Given the description of an element on the screen output the (x, y) to click on. 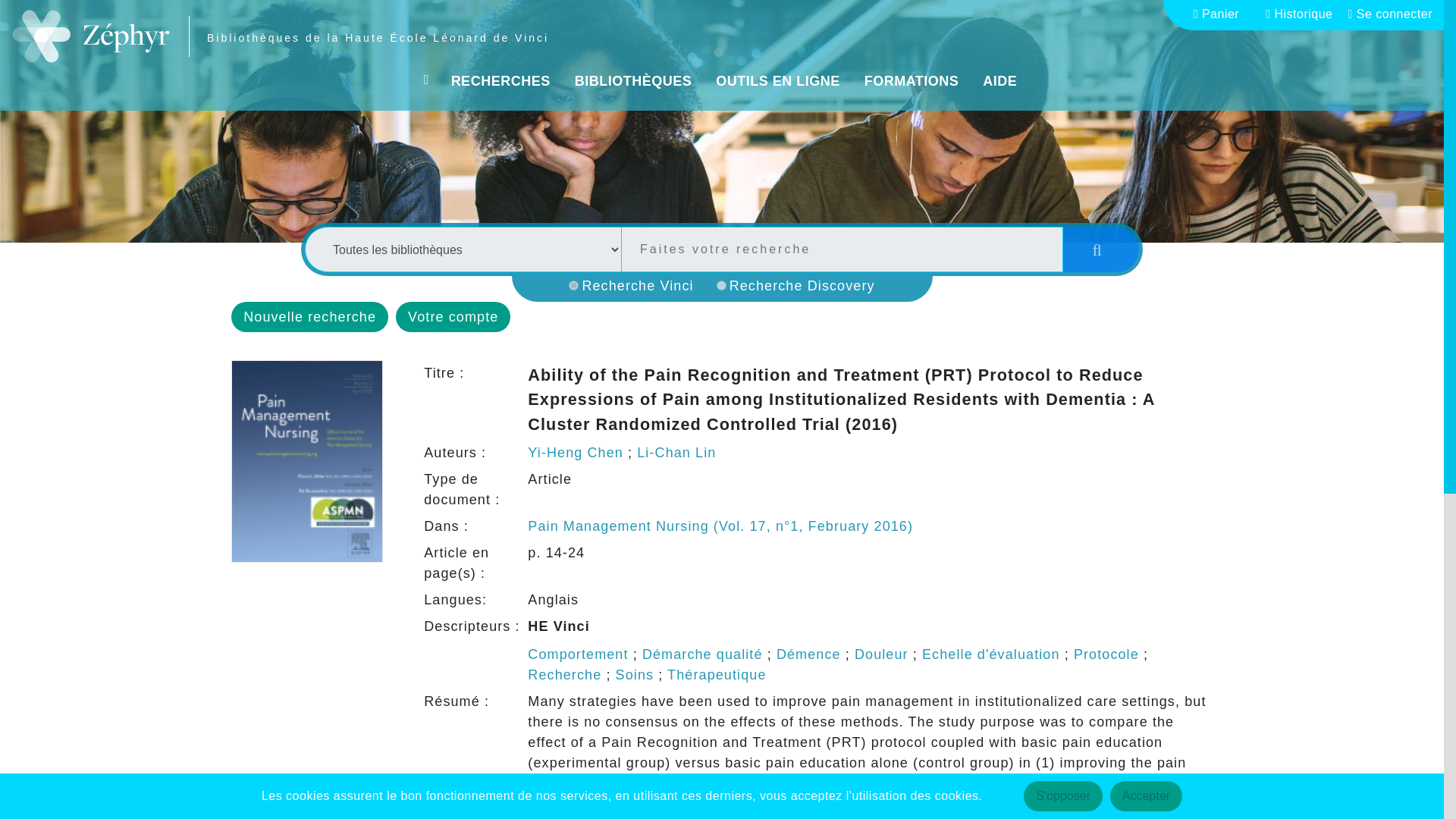
vinci (573, 285)
Panier (1221, 13)
discovery (721, 285)
Historique (1304, 13)
